Given the description of an element on the screen output the (x, y) to click on. 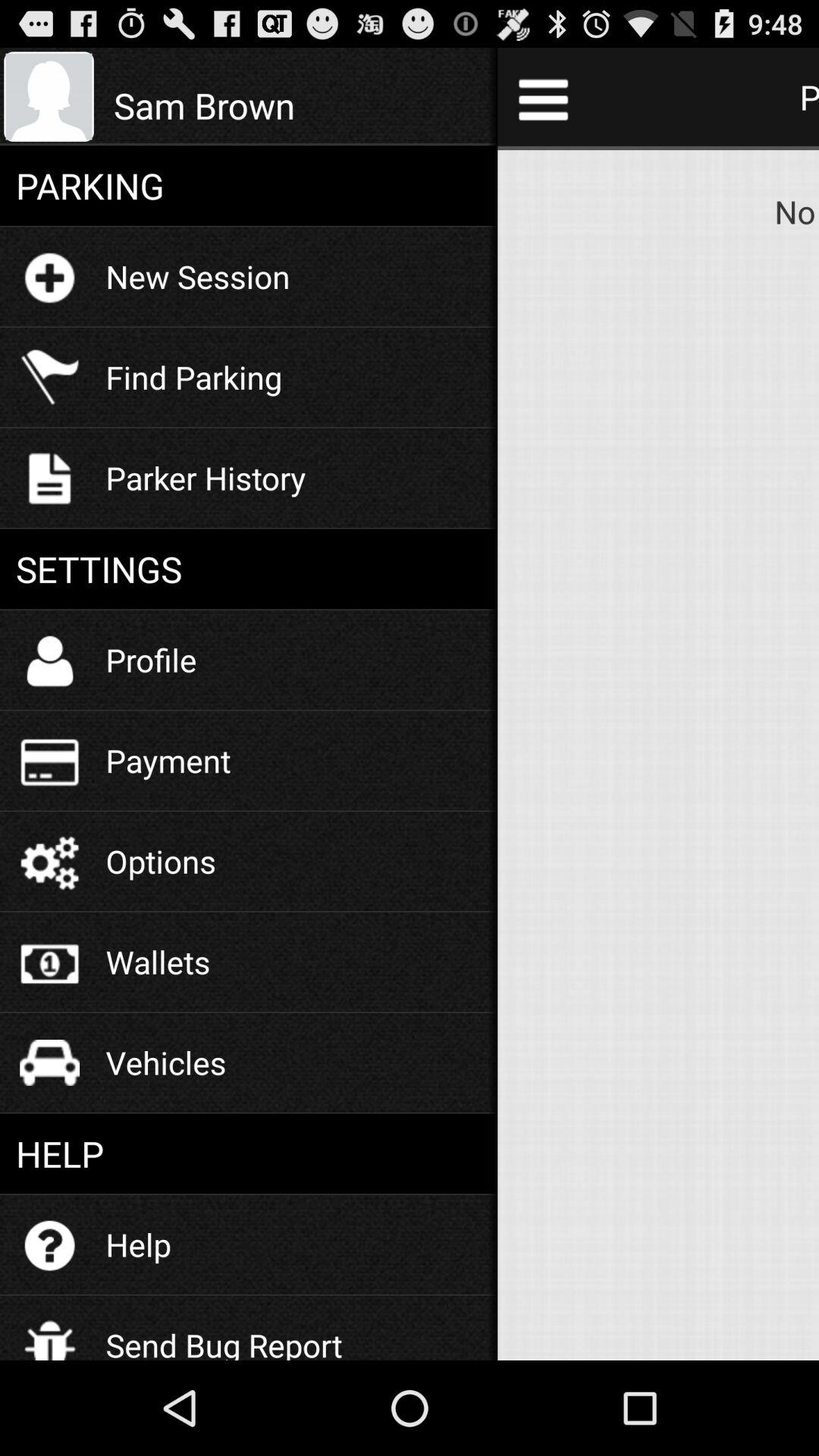
turn on the item below the new session (193, 376)
